Given the description of an element on the screen output the (x, y) to click on. 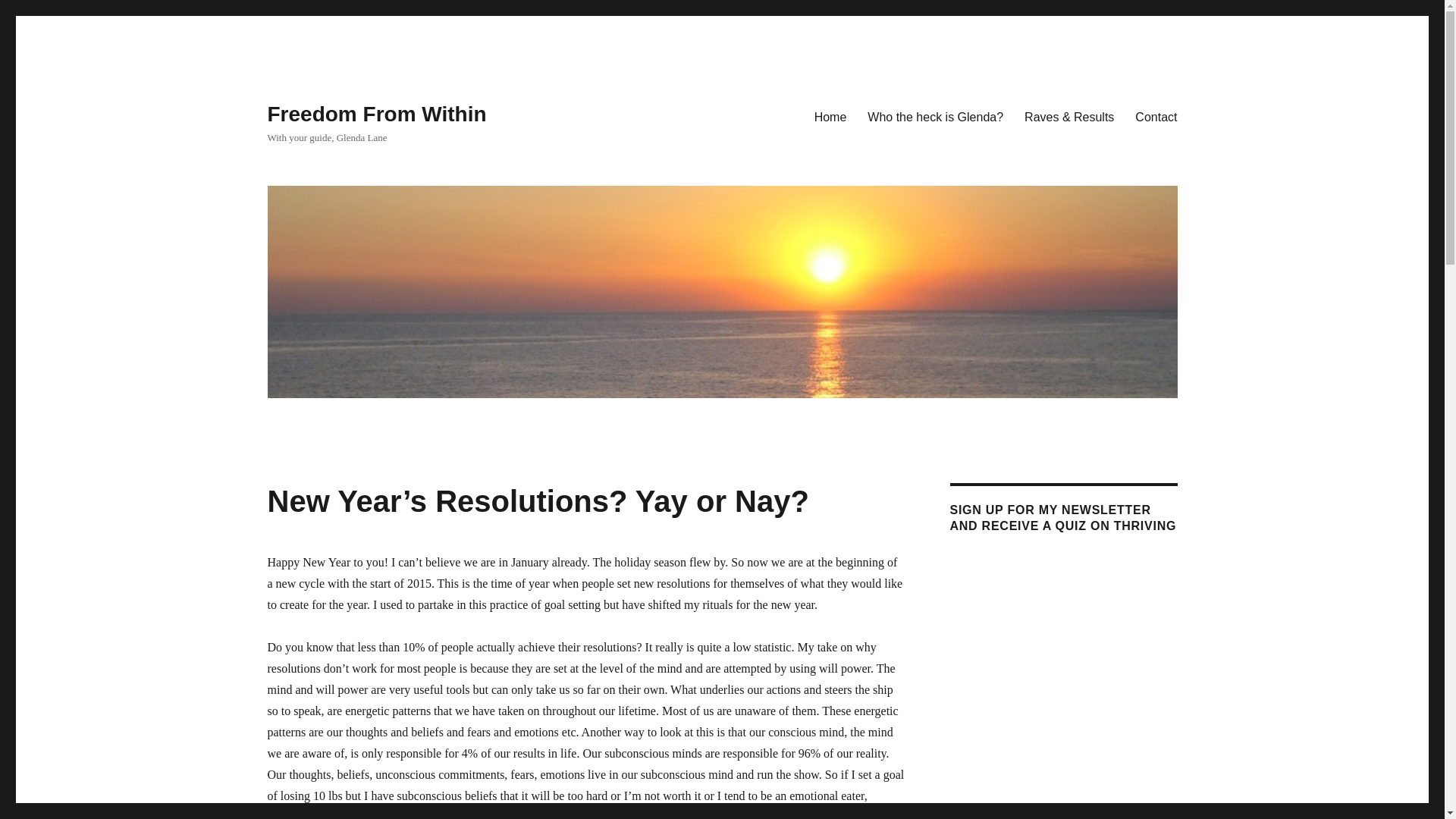
Who the heck is Glenda? (935, 116)
Home (830, 116)
Freedom From Within (376, 114)
Contact (1156, 116)
